Given the description of an element on the screen output the (x, y) to click on. 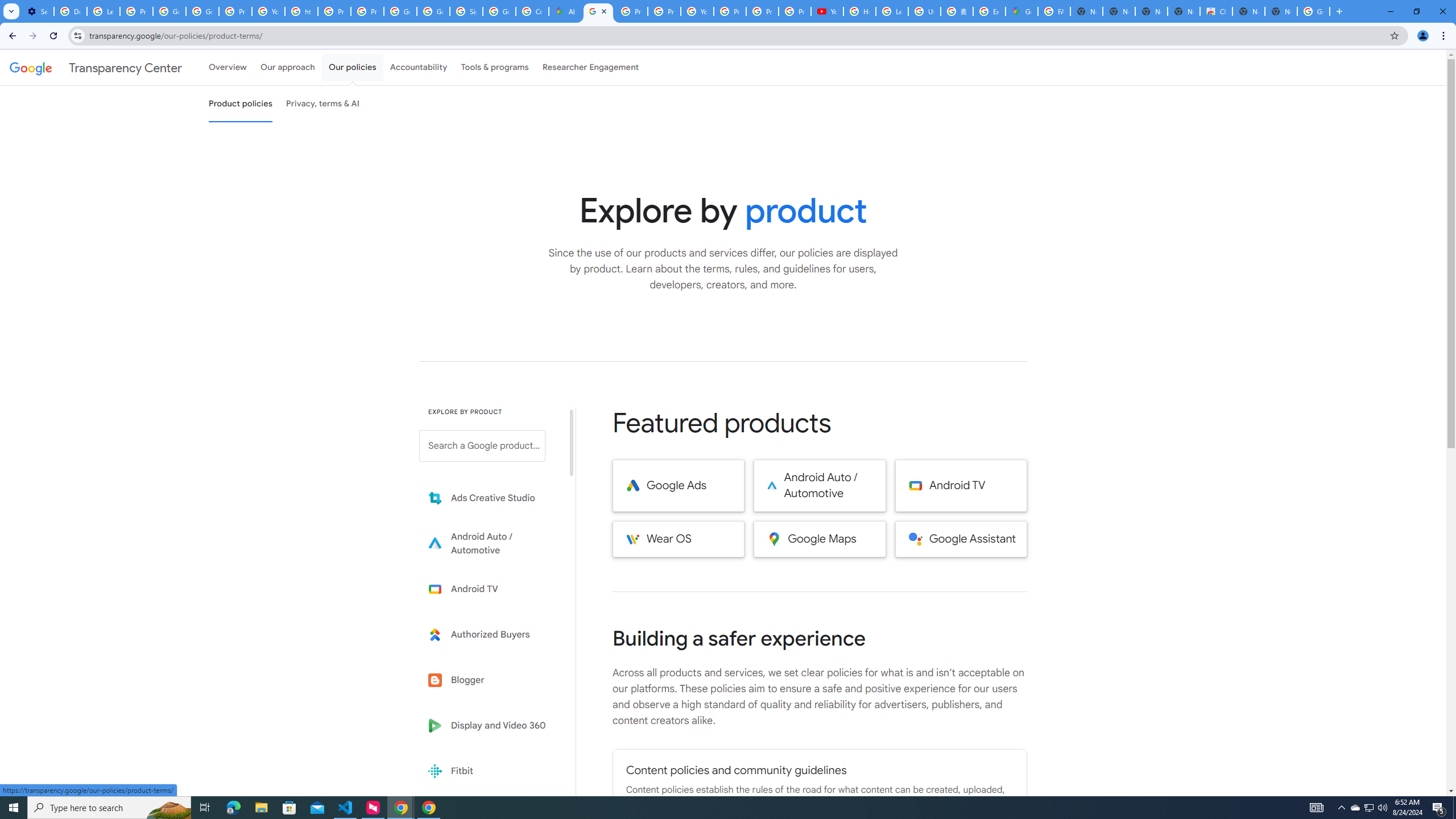
Blogger (490, 679)
Learn more about Android Auto (490, 543)
Learn more about Authorized Buyers (490, 634)
Learn more about Android TV (490, 588)
Search a Google product from below list. (481, 445)
Product policies (239, 103)
YouTube (697, 11)
Privacy Help Center - Policies Help (631, 11)
Display and Video 360 (490, 725)
Google Account Help (169, 11)
